Given the description of an element on the screen output the (x, y) to click on. 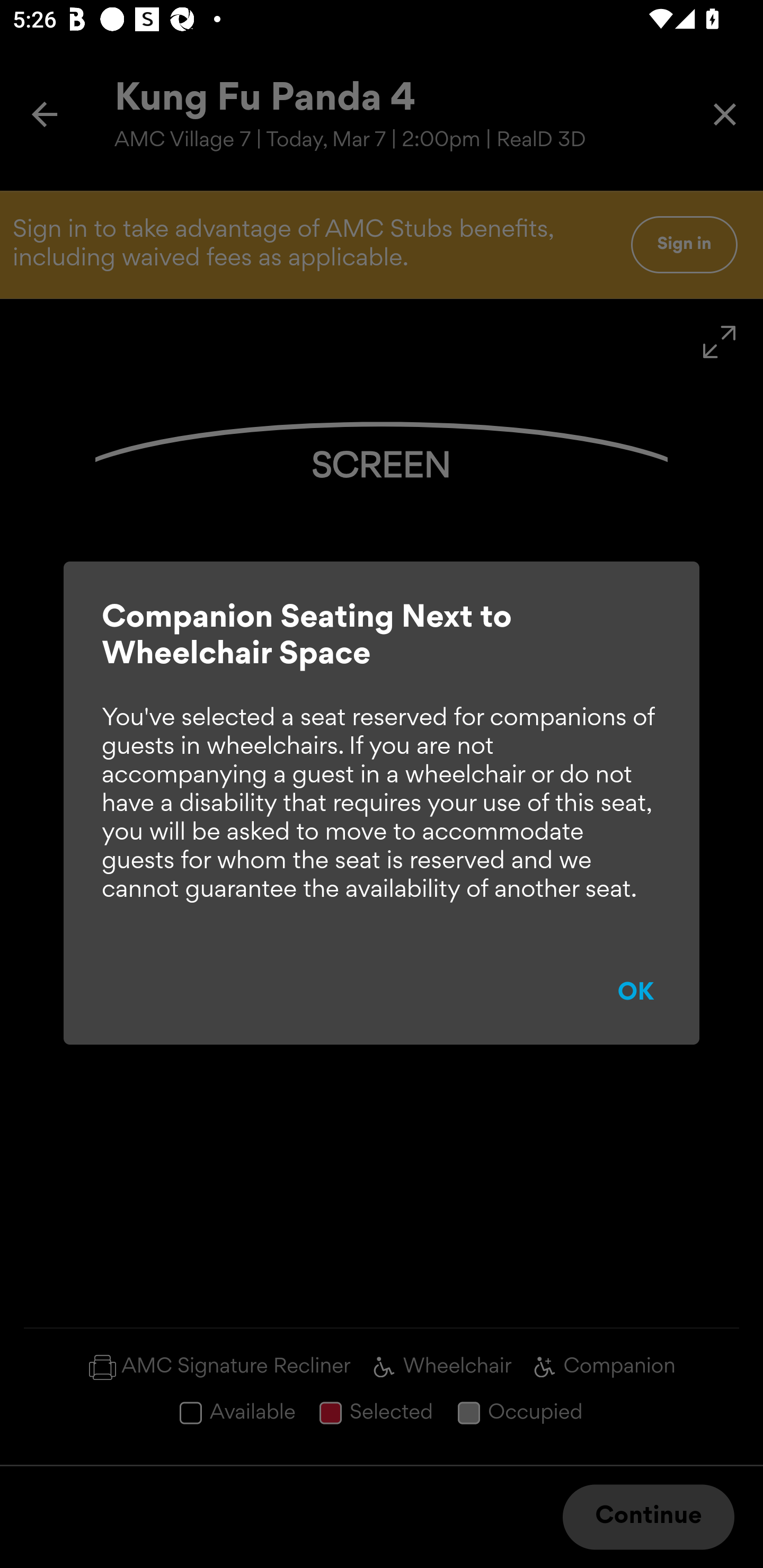
OK (635, 992)
